Given the description of an element on the screen output the (x, y) to click on. 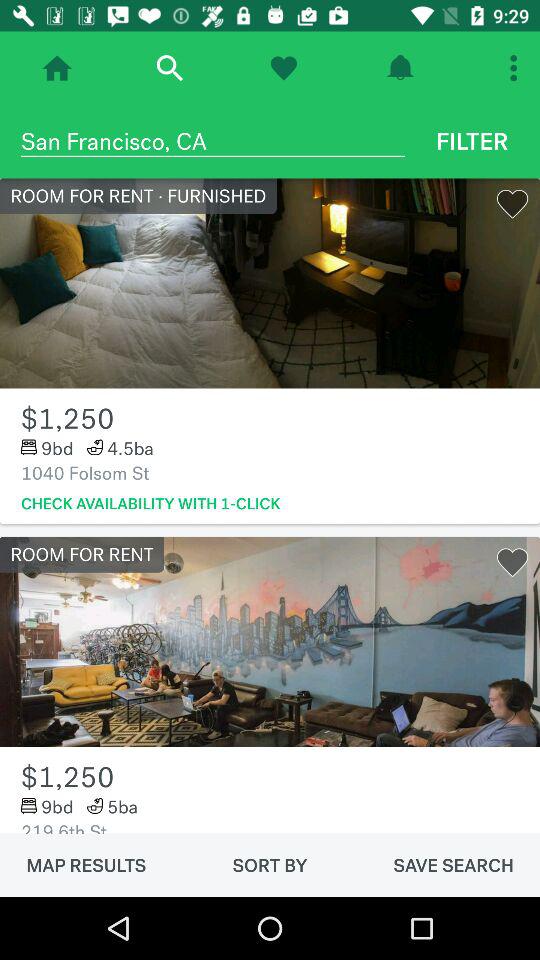
button search (169, 68)
